Given the description of an element on the screen output the (x, y) to click on. 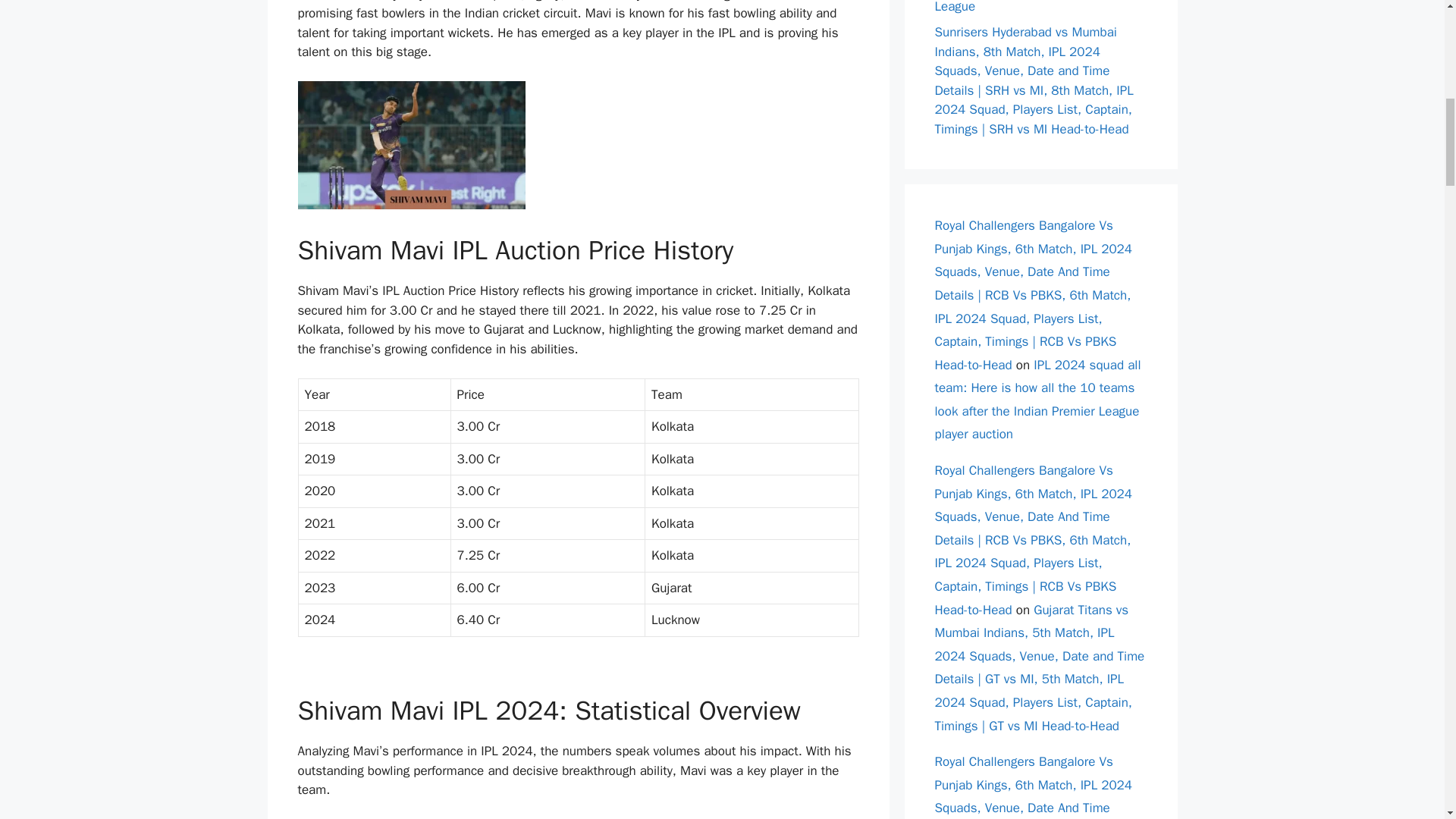
Full throttle: Shivam Mavi The Rising Star Of IPL 2 (410, 145)
